Given the description of an element on the screen output the (x, y) to click on. 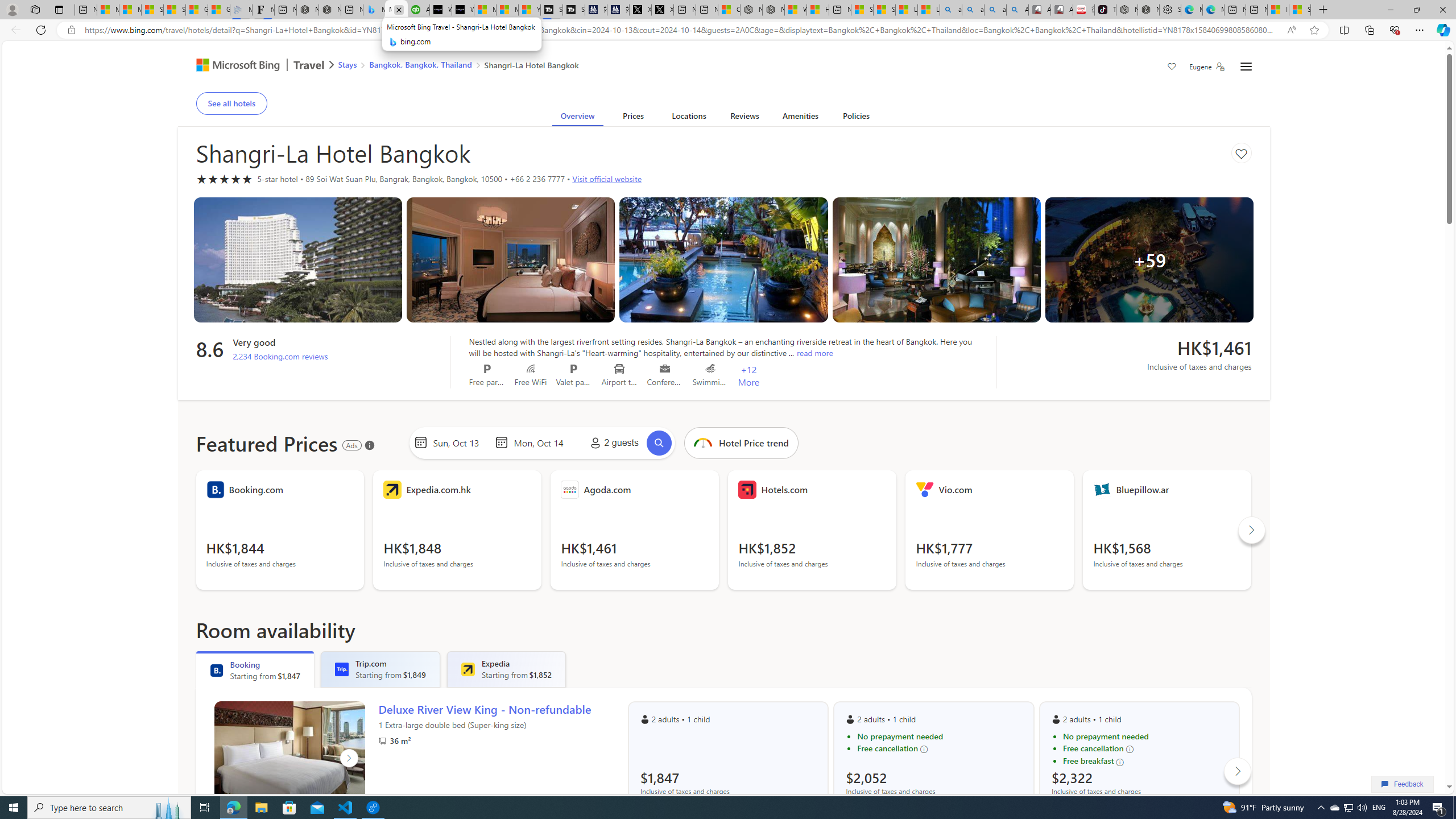
AutomationID: bread-crumb-root (451, 66)
Gilma and Hector both pose tropical trouble for Hawaii (218, 9)
Microsoft Start Sports (484, 9)
Save (1171, 67)
App bar (728, 29)
Vendor Logo Vio.com HK$1,777 Inclusive of taxes and charges (989, 529)
Booking (216, 670)
Search (658, 442)
Nordace Siena Pro 15 Backpack (1148, 9)
Huge shark washes ashore at New York City beach | Watch (818, 9)
Tab actions menu (58, 9)
View site information (70, 29)
Stays (346, 64)
